Given the description of an element on the screen output the (x, y) to click on. 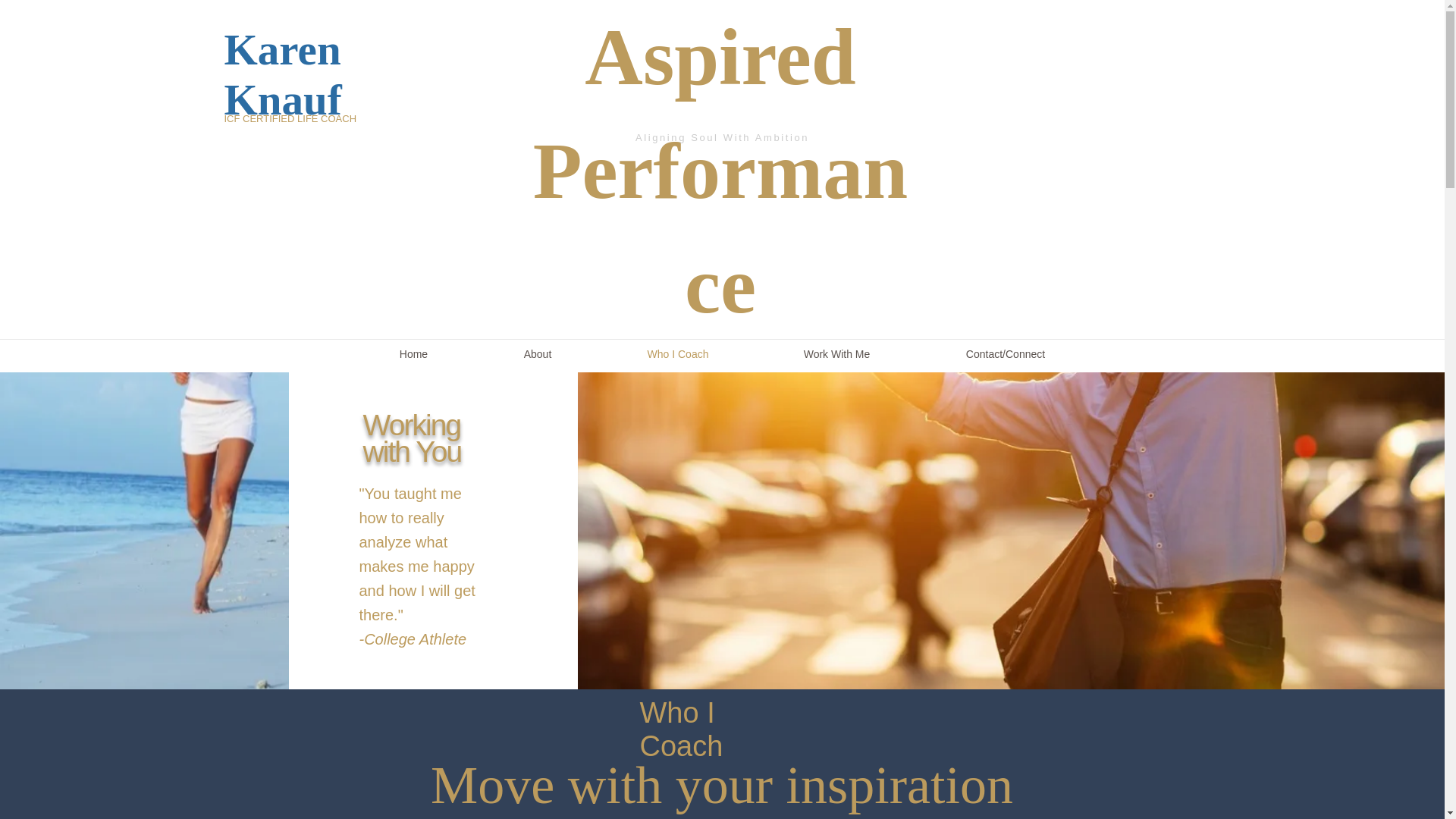
Karen Knauf (283, 74)
Working with You (411, 437)
Home (414, 354)
Work With Me (837, 354)
About (537, 354)
Aligning Soul With Ambition (721, 137)
Who I Coach (676, 354)
